Given the description of an element on the screen output the (x, y) to click on. 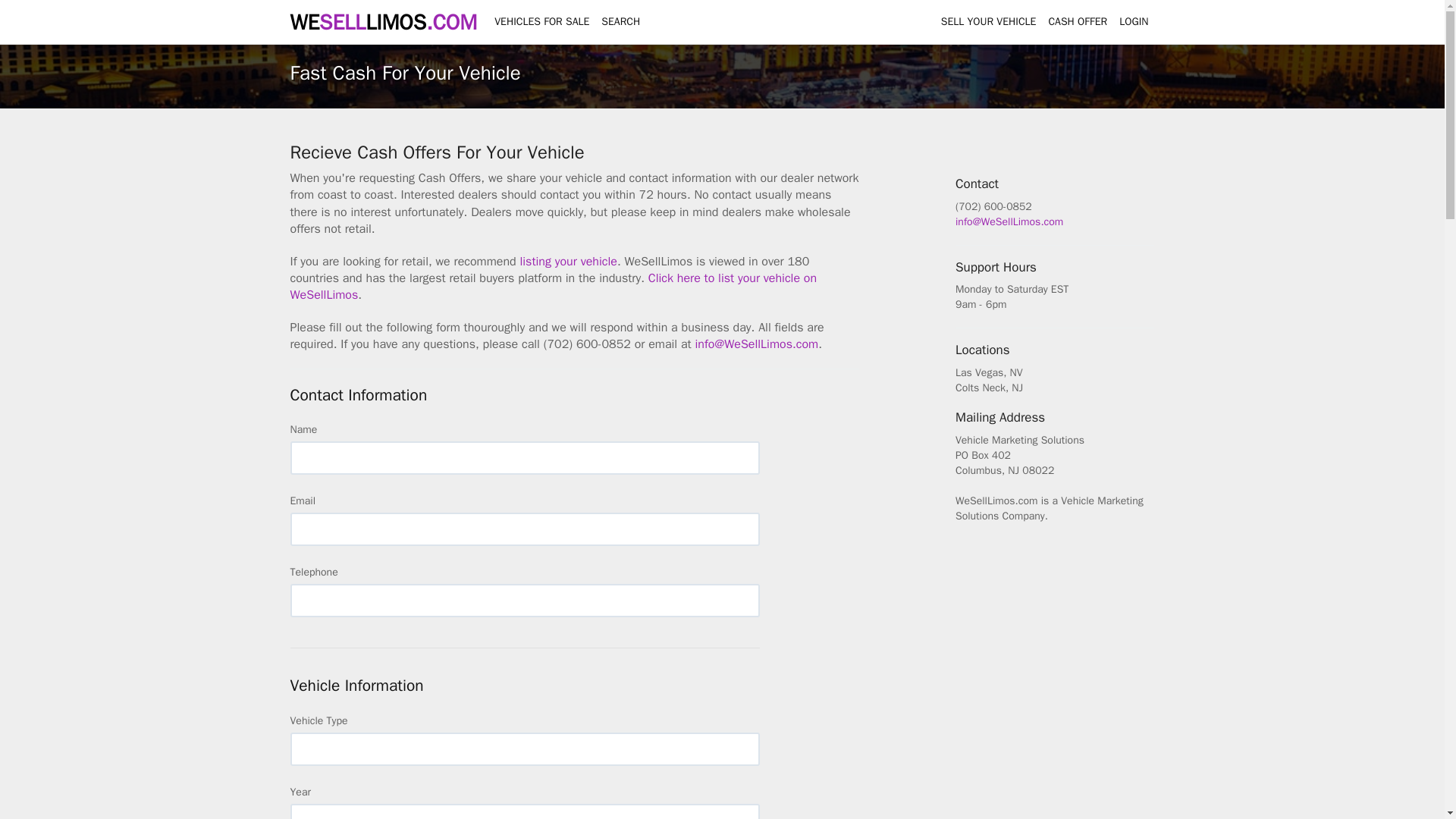
LOGIN (1133, 22)
listing your vehicle (567, 261)
SELL YOUR VEHICLE (988, 22)
VEHICLES FOR SALE (541, 22)
CASH OFFER (1077, 22)
Click here to list your vehicle on WeSellLimos (552, 286)
WESELLLIMOS.COM (384, 19)
SEARCH (620, 22)
